Given the description of an element on the screen output the (x, y) to click on. 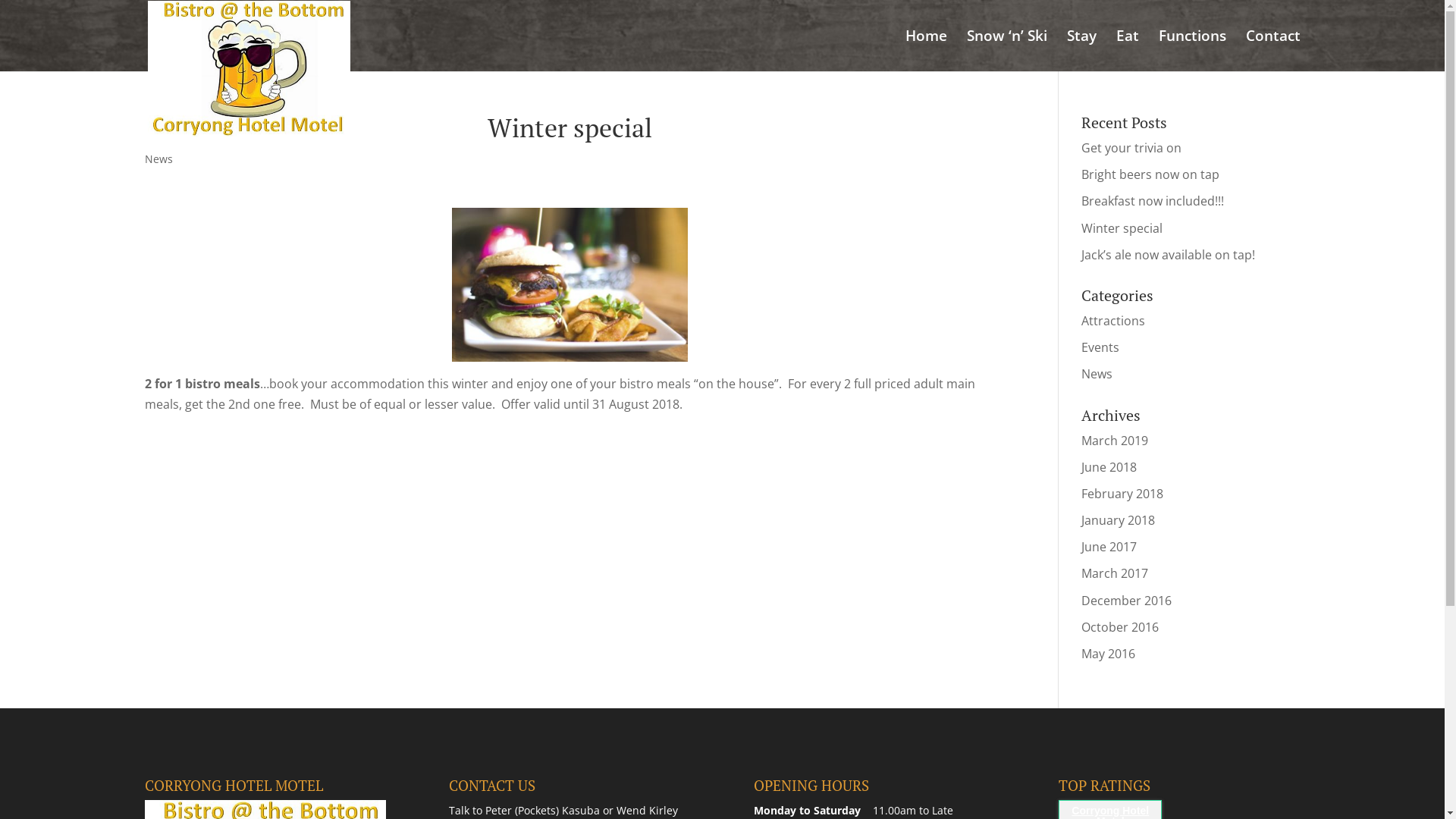
Get your trivia on Element type: text (1131, 147)
October 2016 Element type: text (1119, 626)
May 2016 Element type: text (1108, 653)
Eat Element type: text (1127, 50)
March 2019 Element type: text (1114, 440)
Attractions Element type: text (1113, 320)
March 2017 Element type: text (1114, 572)
January 2018 Element type: text (1117, 519)
Home Element type: text (926, 50)
Breakfast now included!!! Element type: text (1152, 200)
June 2018 Element type: text (1108, 466)
Functions Element type: text (1192, 50)
Events Element type: text (1100, 346)
Contact Element type: text (1272, 50)
News Element type: text (1096, 373)
Stay Element type: text (1080, 50)
News Element type: text (158, 158)
Bright beers now on tap Element type: text (1150, 174)
December 2016 Element type: text (1126, 600)
Winter special Element type: text (1121, 227)
February 2018 Element type: text (1122, 493)
June 2017 Element type: text (1108, 546)
